Given the description of an element on the screen output the (x, y) to click on. 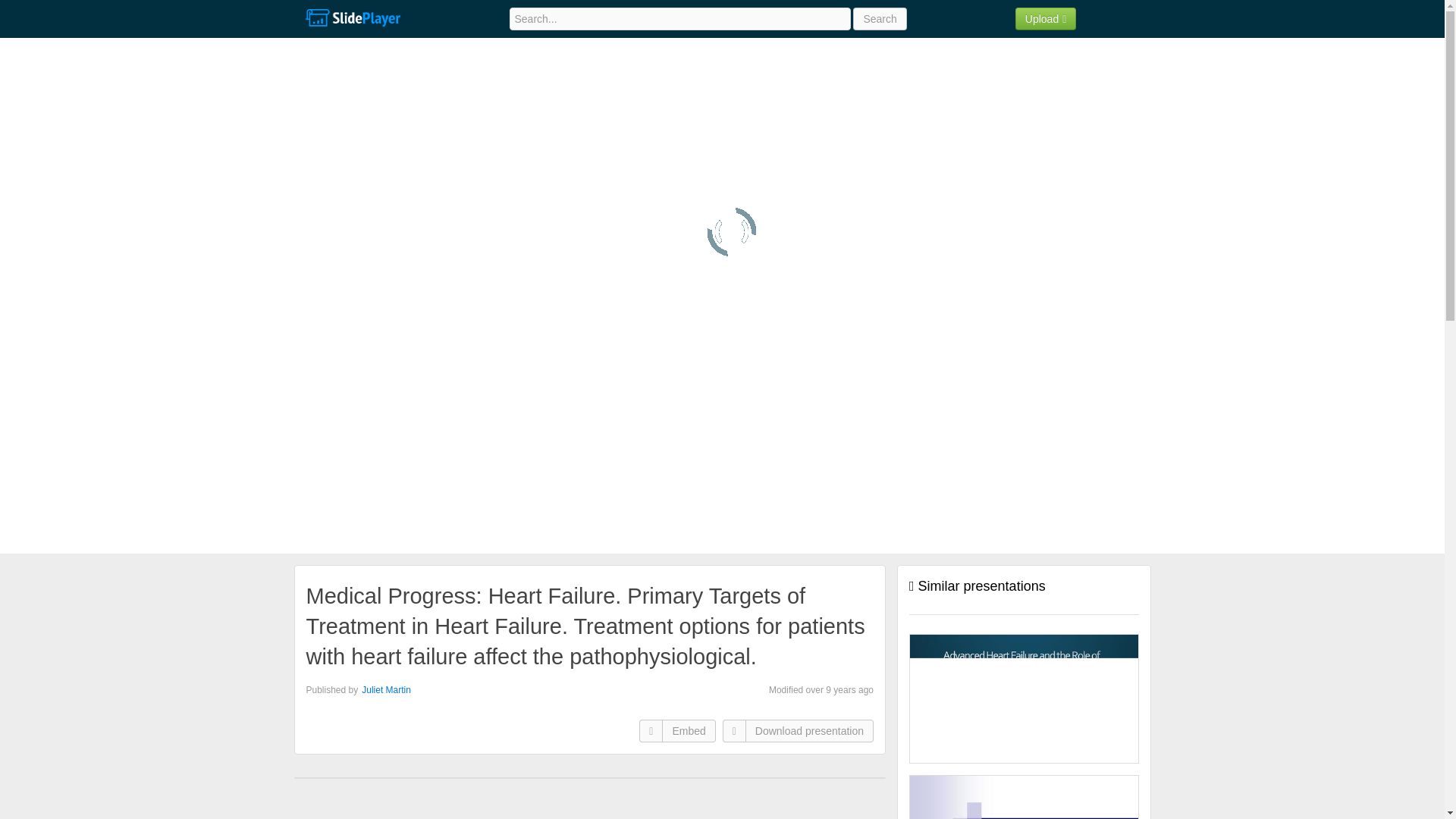
Upload (1045, 18)
SlidePlayer (352, 18)
Juliet Martin (385, 689)
Presentation is loading. Please wait. (731, 232)
Search (879, 18)
